Given the description of an element on the screen output the (x, y) to click on. 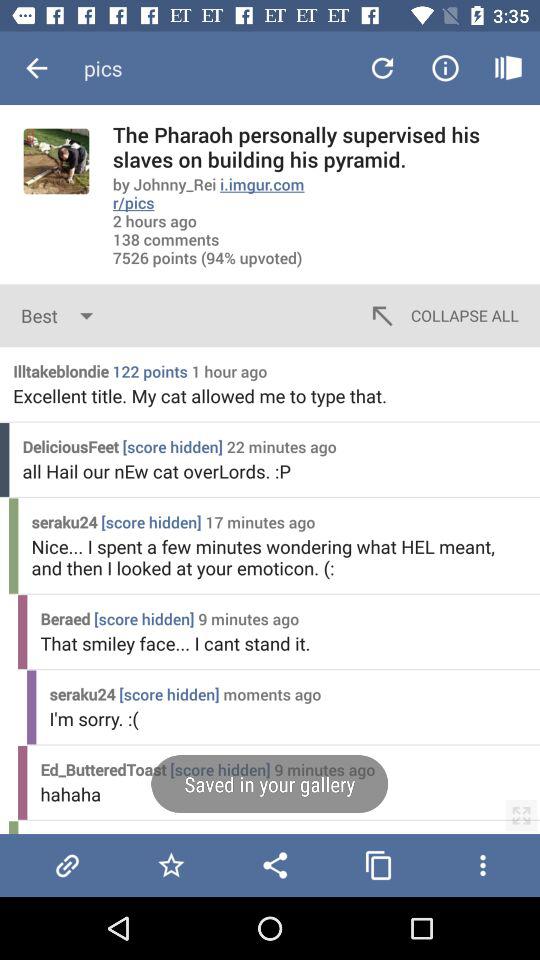
press icon next to the pics icon (36, 68)
